Given the description of an element on the screen output the (x, y) to click on. 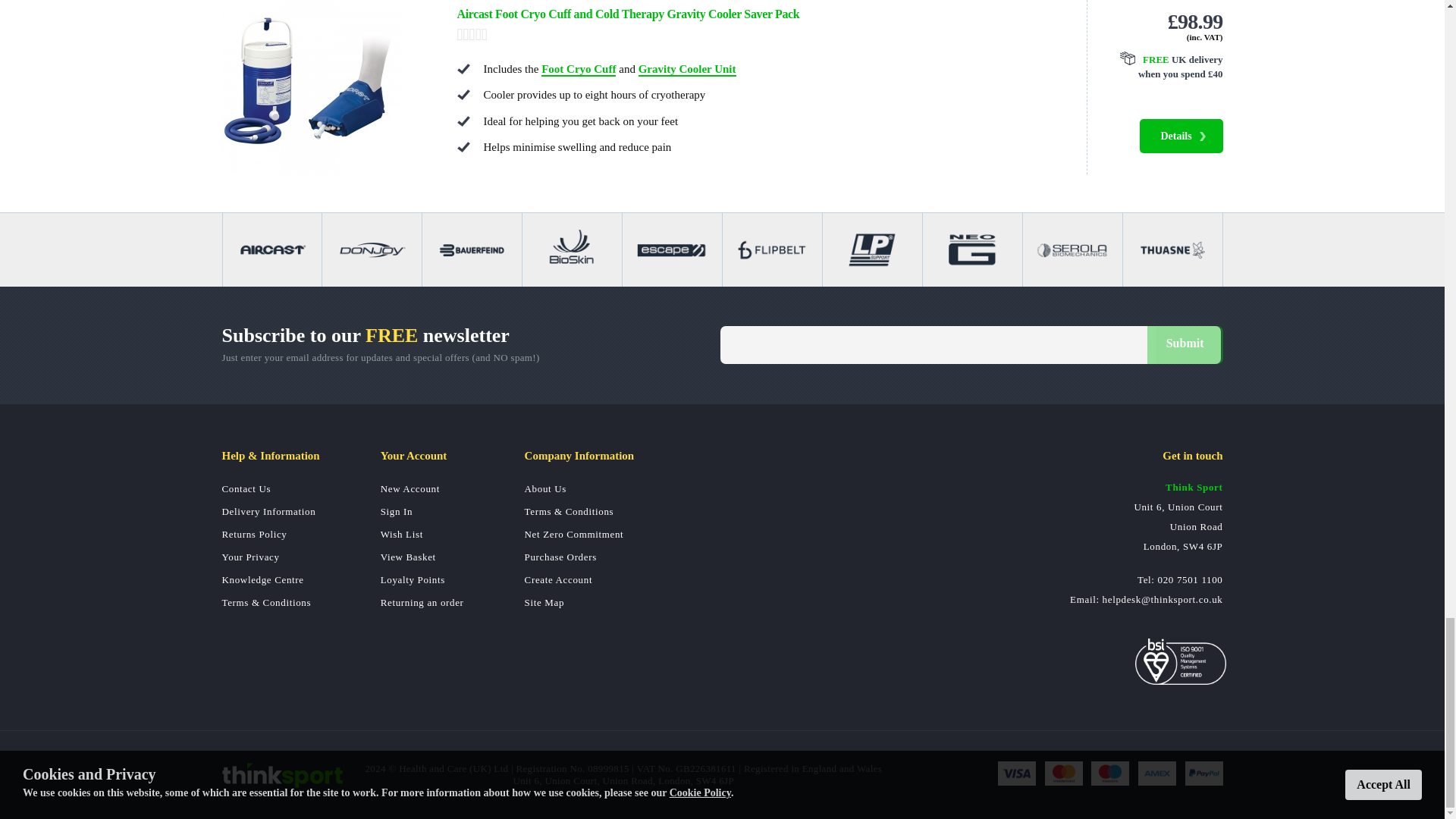
Full product details (1180, 135)
FlipBelt (771, 249)
Not yet reviewed (756, 34)
Escape Fitness (672, 249)
BioSkin (571, 249)
LP Supports (871, 249)
Click for details (1164, 67)
